Given the description of an element on the screen output the (x, y) to click on. 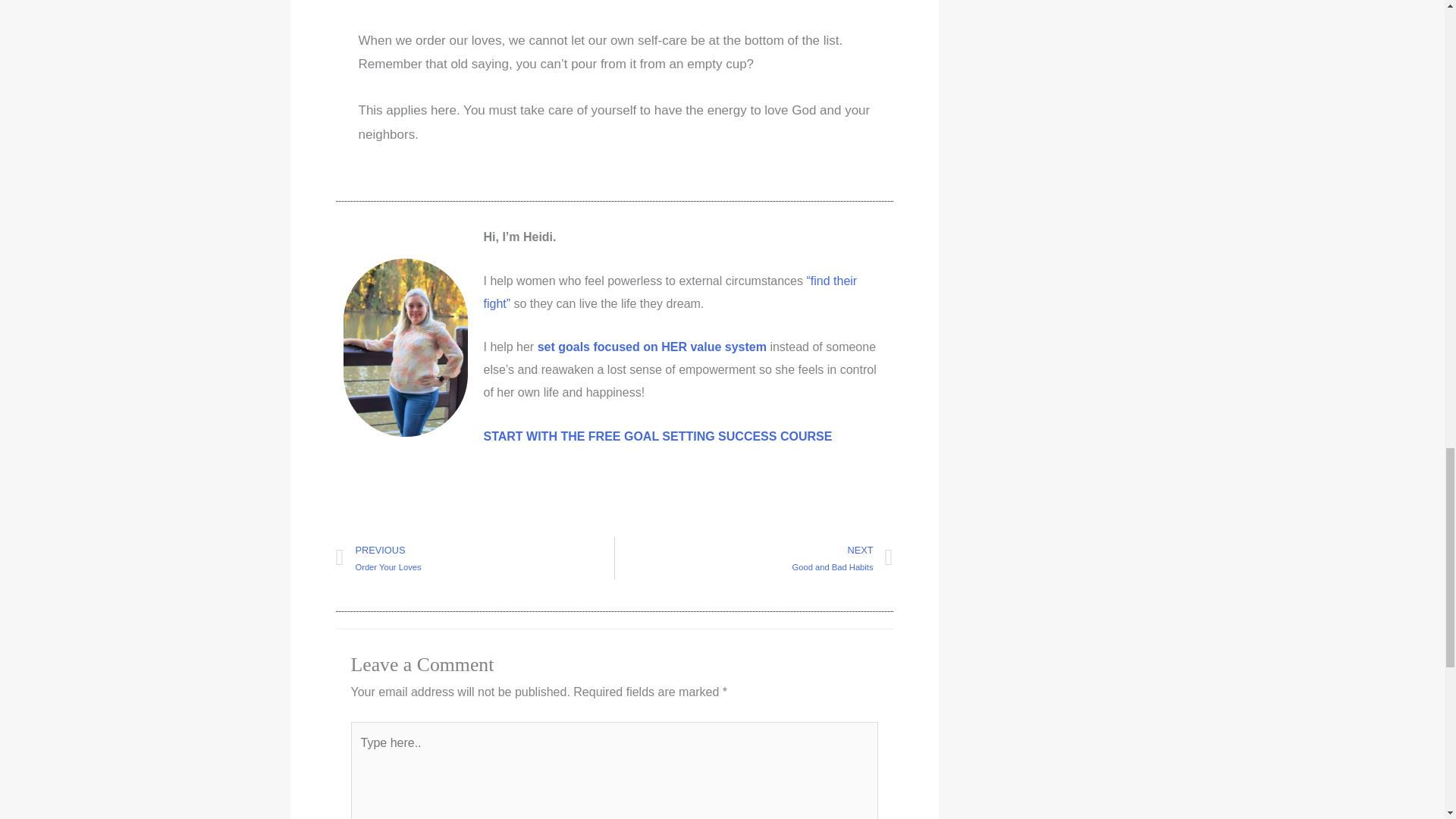
START WITH THE FREE GOAL SETTING SUCCESS COURSE (753, 558)
set goals focused on HER value system (657, 435)
